Given the description of an element on the screen output the (x, y) to click on. 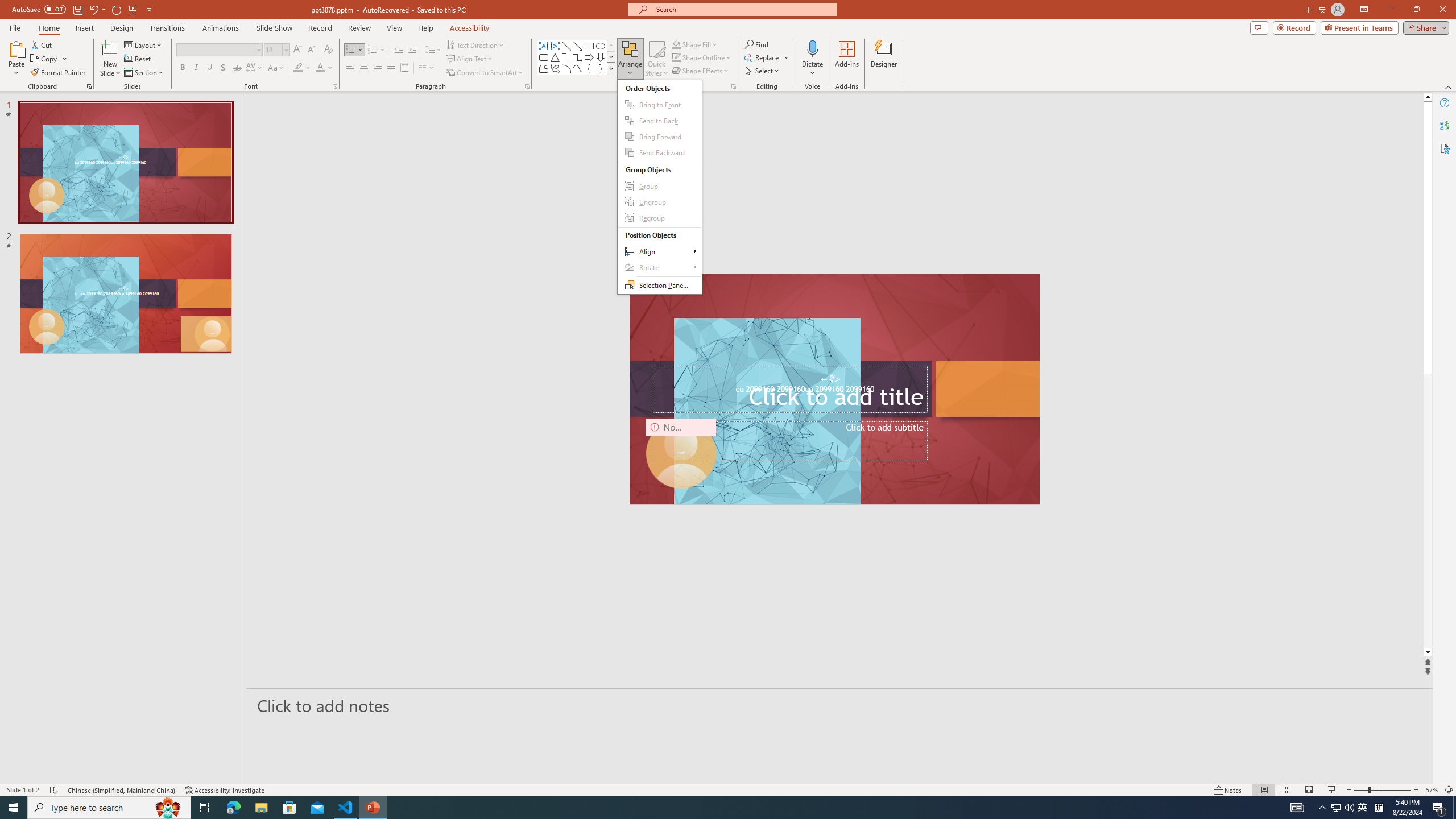
Quick Styles (656, 58)
Decrease Indent (398, 49)
Clear Formatting (327, 49)
Title TextBox (789, 389)
Visual Studio Code - 1 running window (345, 807)
Shape Outline Green, Accent 1 (675, 56)
Left Brace (589, 68)
Reset (138, 58)
